Given the description of an element on the screen output the (x, y) to click on. 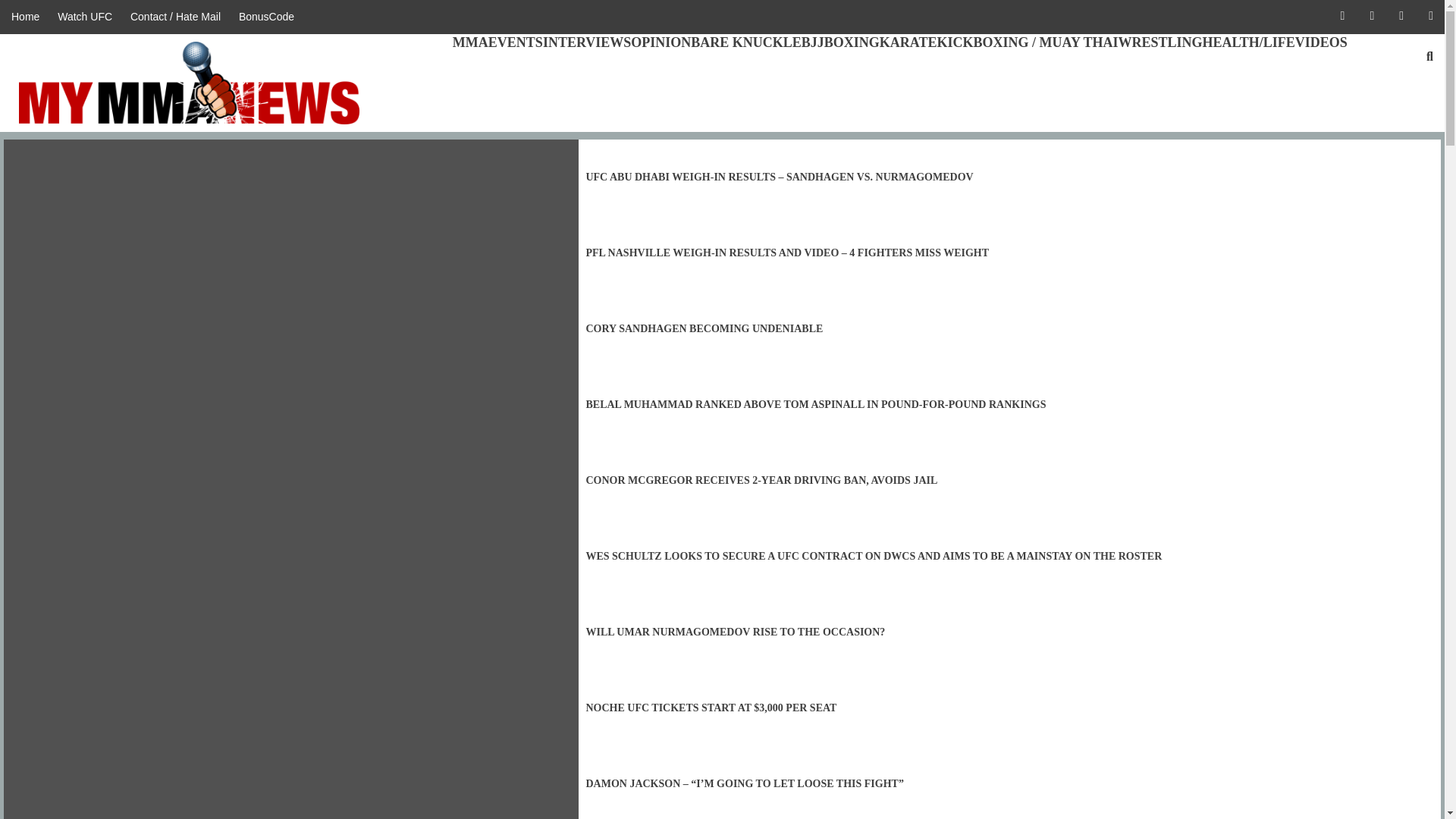
Events (515, 42)
BonusCode (266, 17)
Contact Us (175, 17)
Opinion (660, 42)
INTERVIEWS (586, 42)
BARE KNUCKLE (746, 42)
Watch UFC (84, 17)
Boxing News (851, 42)
MMA News (28, 17)
BJJ (813, 42)
Karate (908, 42)
BOXING (851, 42)
KARATE (908, 42)
BJJ (813, 42)
MYMMANEWS (102, 135)
